Given the description of an element on the screen output the (x, y) to click on. 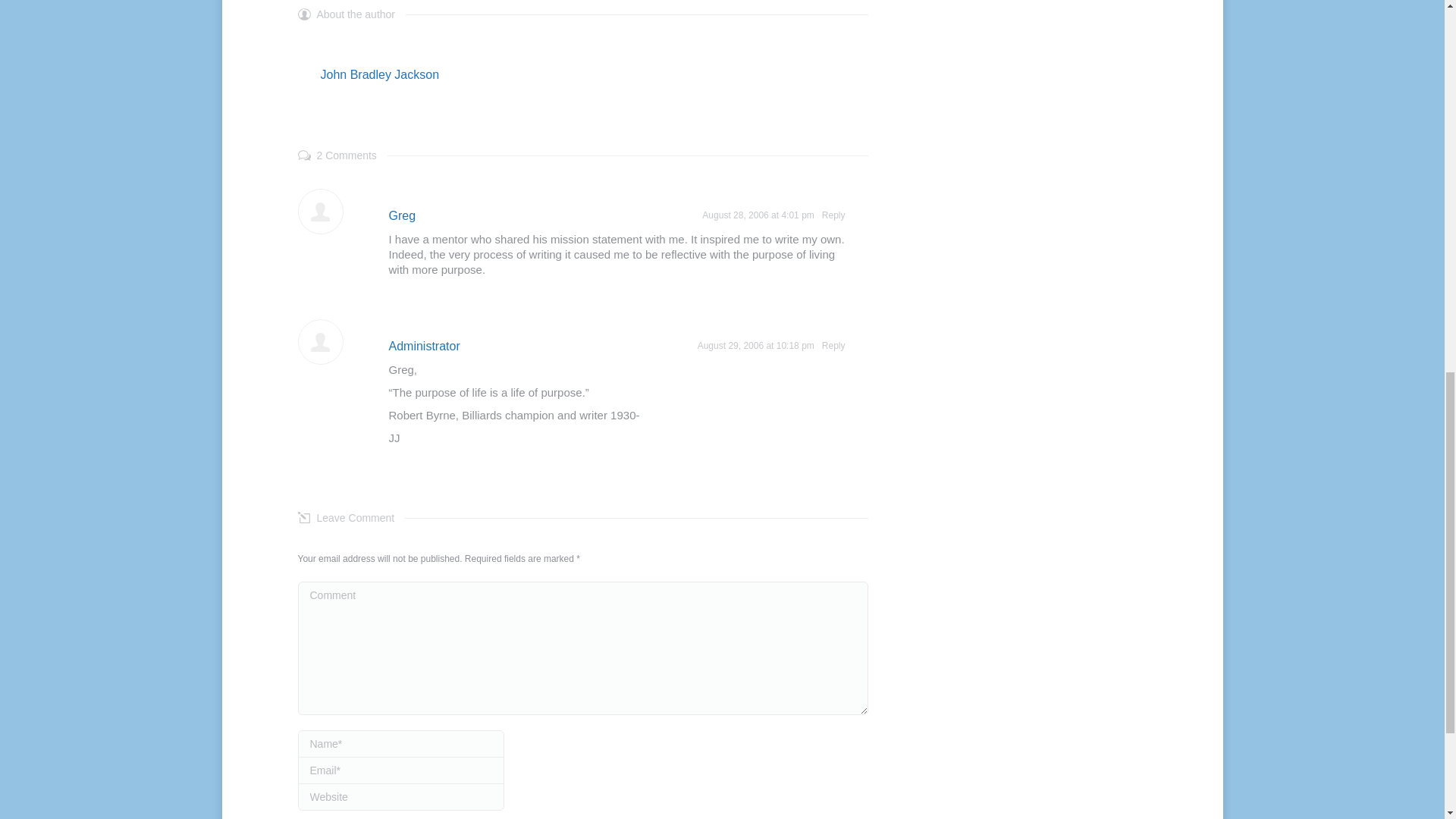
Reply (833, 345)
Reply (833, 215)
